Given the description of an element on the screen output the (x, y) to click on. 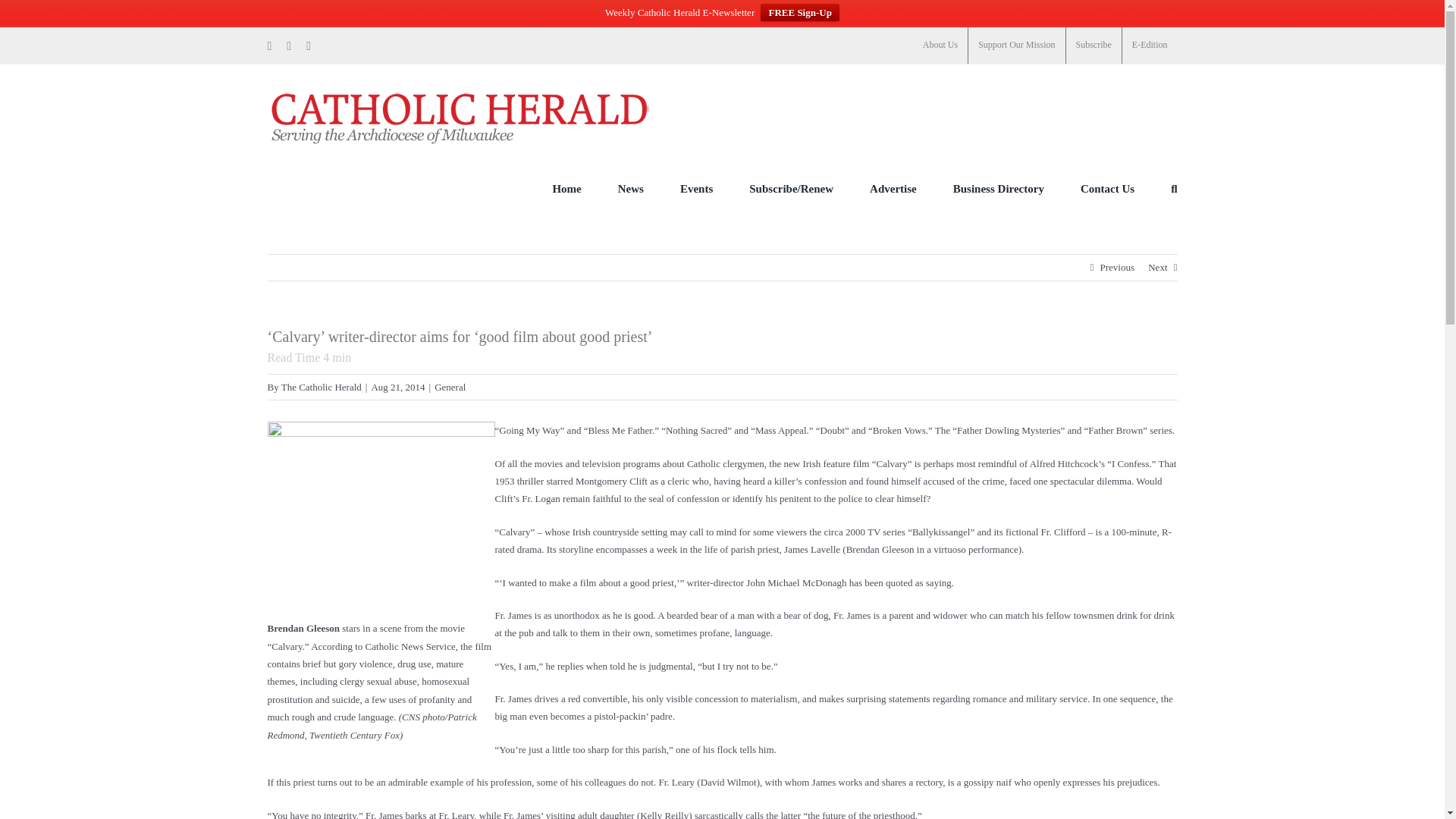
Business Directory (998, 188)
About Us (940, 45)
Support Our Mission (1016, 45)
FREE Sign-Up (799, 12)
Posts by The Catholic Herald (321, 387)
E-Edition (1149, 45)
Advertise (893, 188)
Contact Us (1107, 188)
Subscribe (1093, 45)
